Given the description of an element on the screen output the (x, y) to click on. 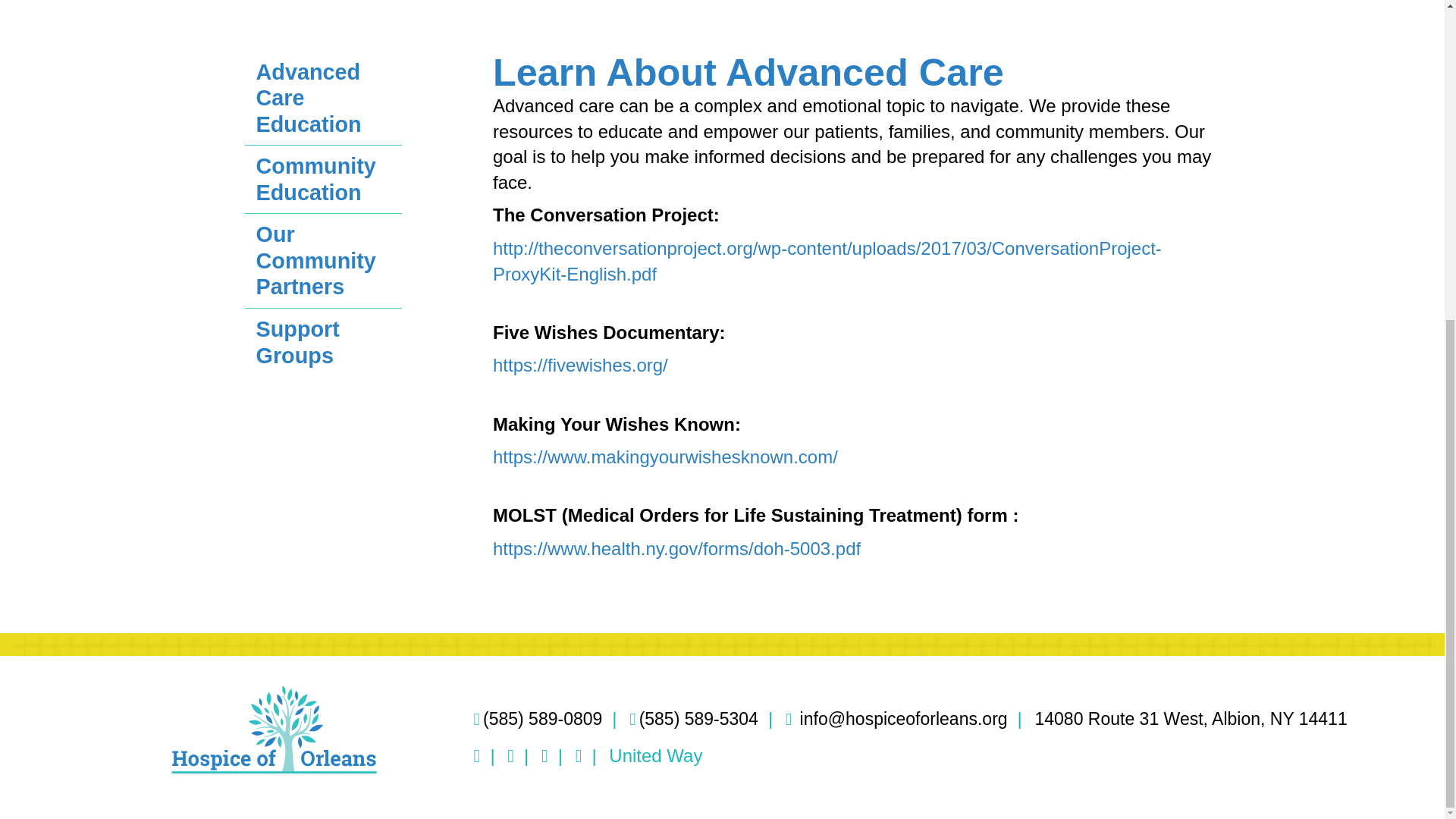
Our Community Partners (322, 259)
Community Education (322, 178)
Advanced Care Education (322, 98)
Support Groups (322, 341)
